Given the description of an element on the screen output the (x, y) to click on. 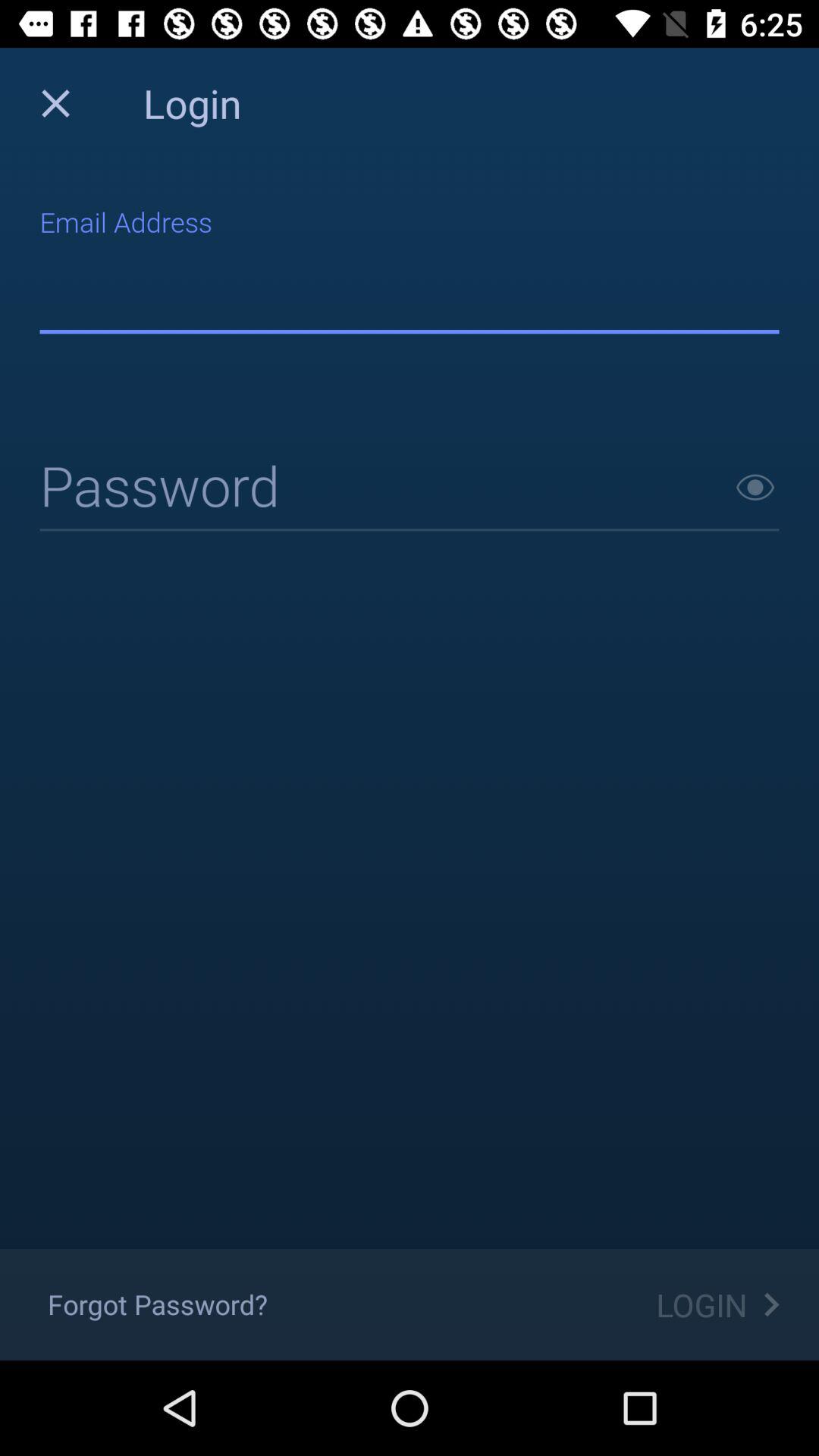
password input (409, 488)
